Given the description of an element on the screen output the (x, y) to click on. 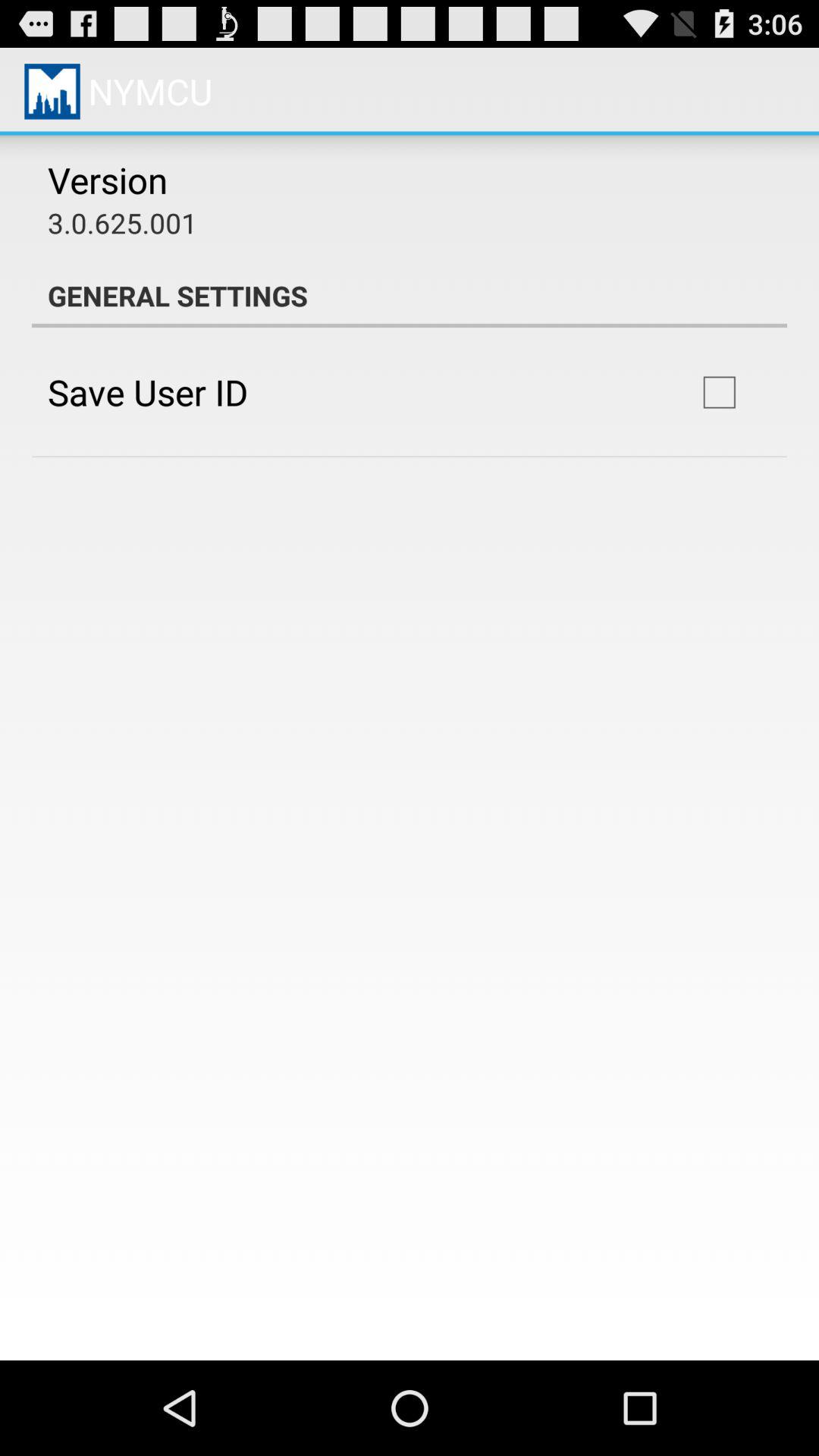
scroll until 3 0 625 (122, 222)
